Given the description of an element on the screen output the (x, y) to click on. 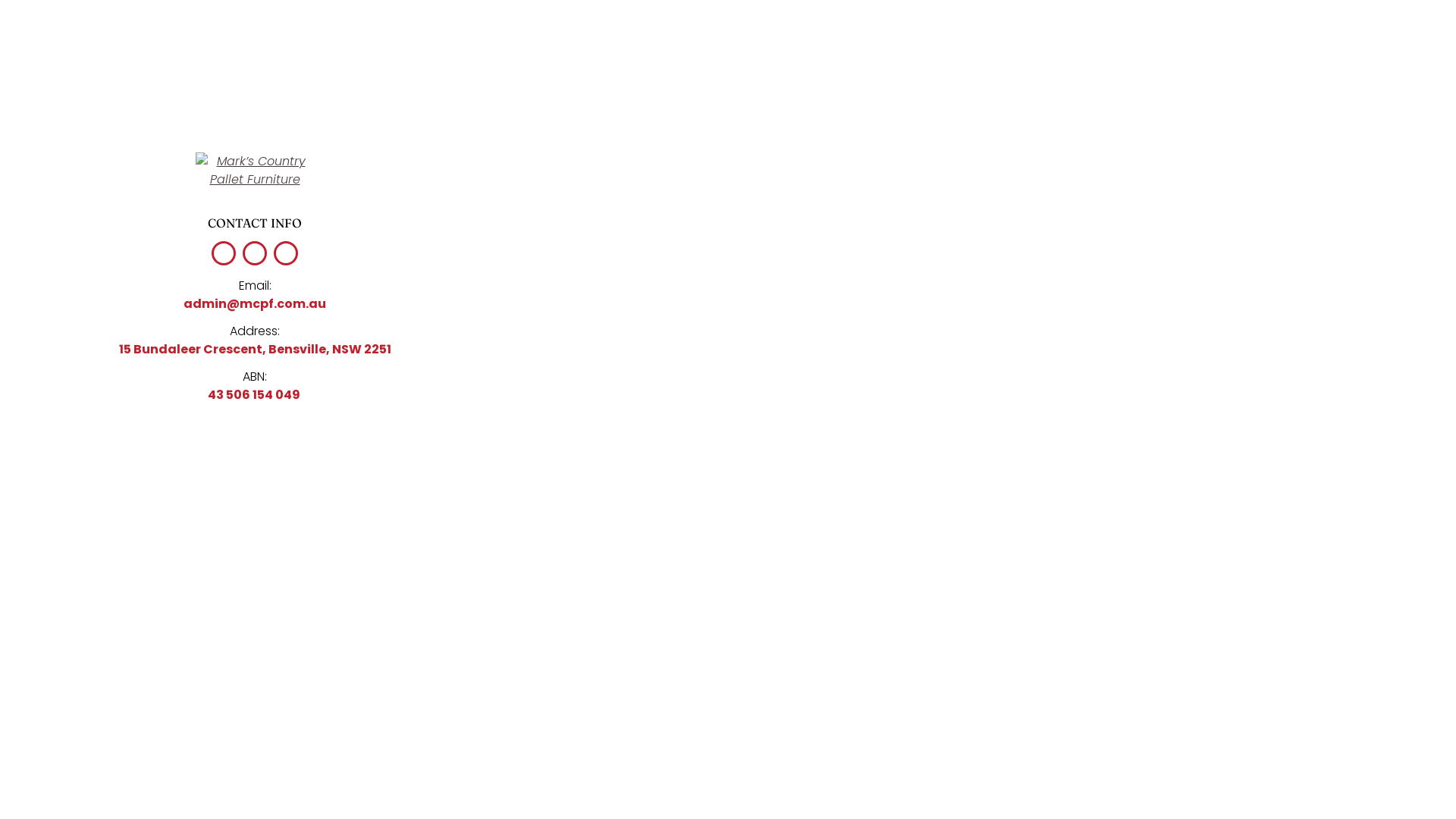
admin@mcpf.com.au Element type: text (254, 303)
15 Bundaleer Crescent, Bensville, NSW 2251 Element type: text (254, 348)
